Given the description of an element on the screen output the (x, y) to click on. 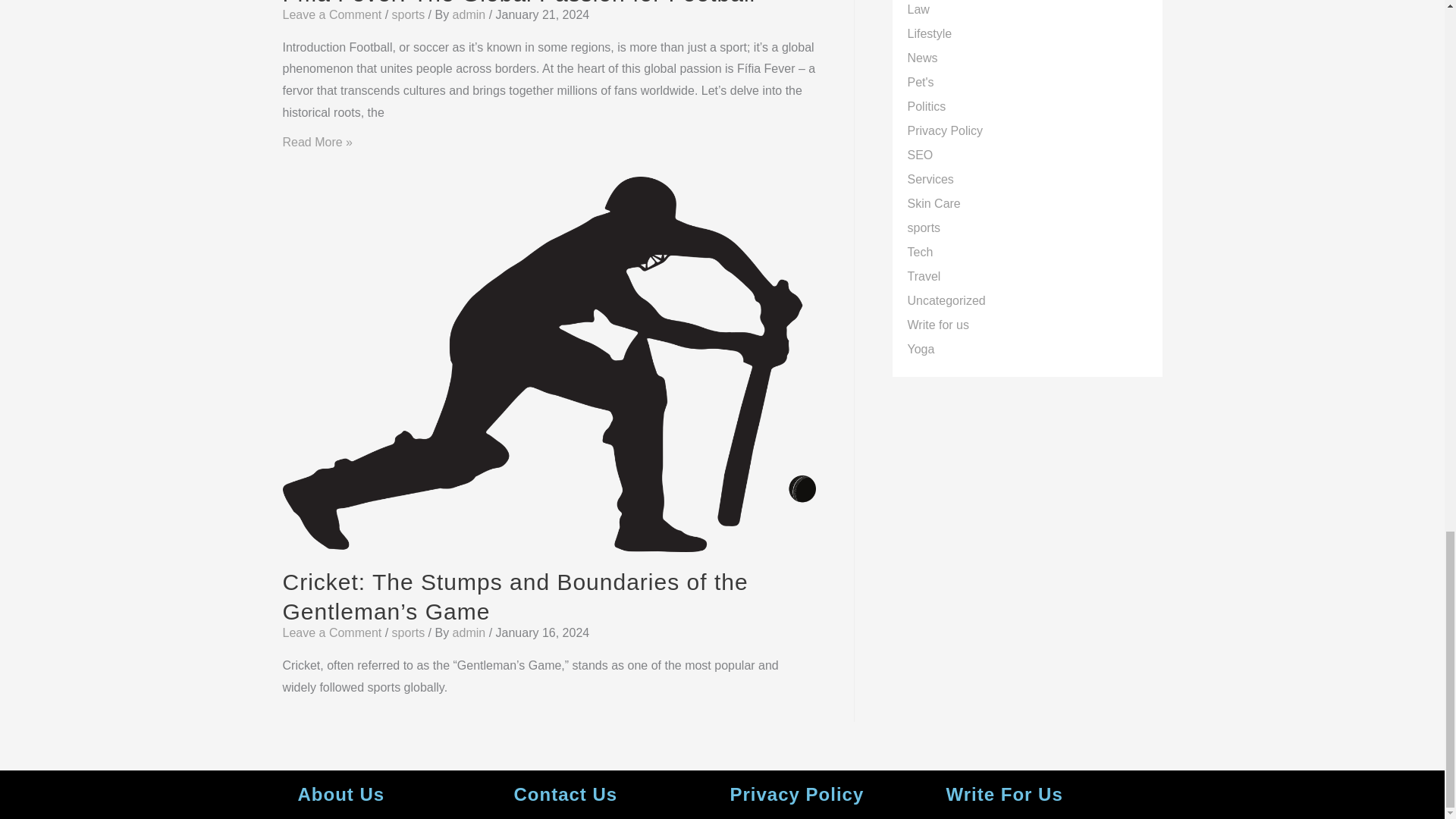
View all posts by admin (470, 14)
View all posts by admin (470, 632)
